Given the description of an element on the screen output the (x, y) to click on. 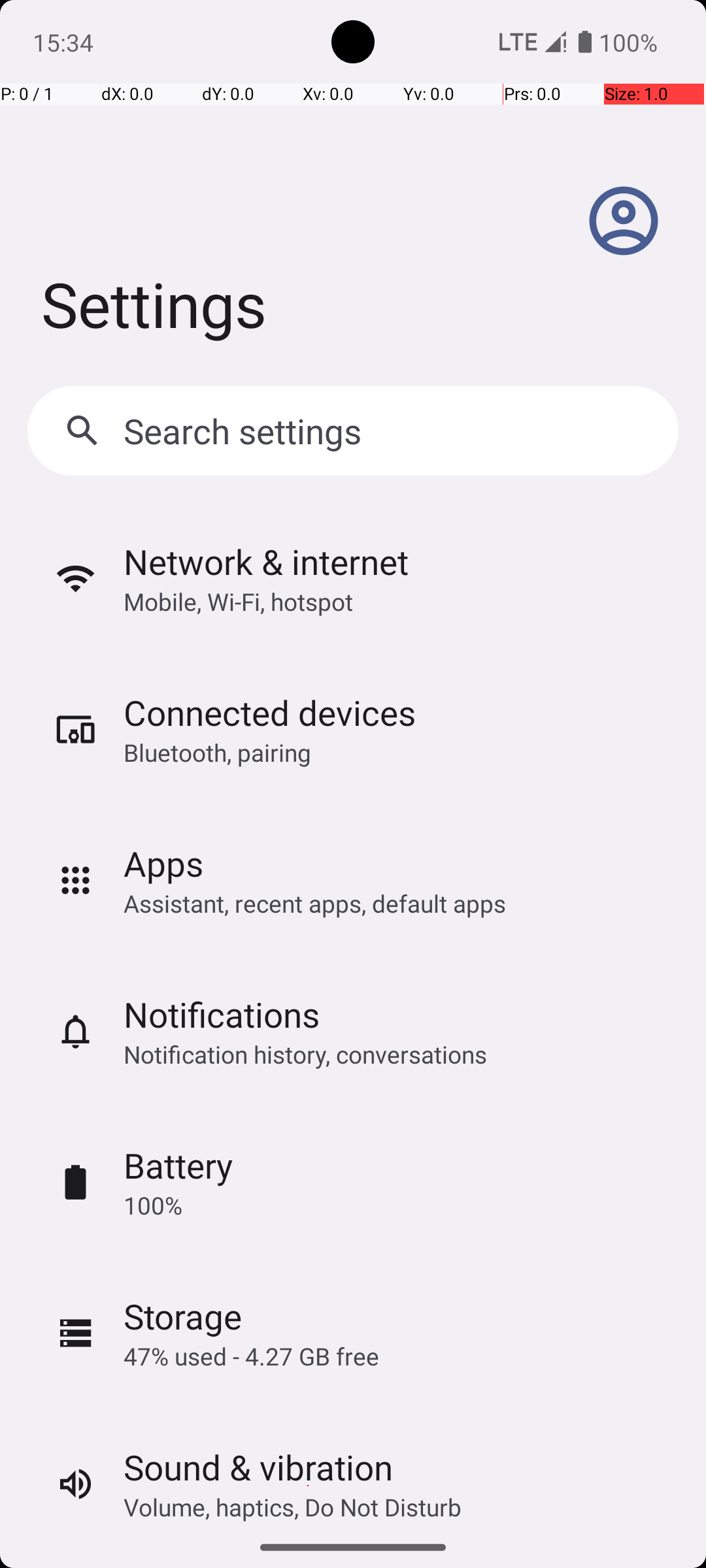
47% used - 4.27 GB free Element type: android.widget.TextView (251, 1355)
